Given the description of an element on the screen output the (x, y) to click on. 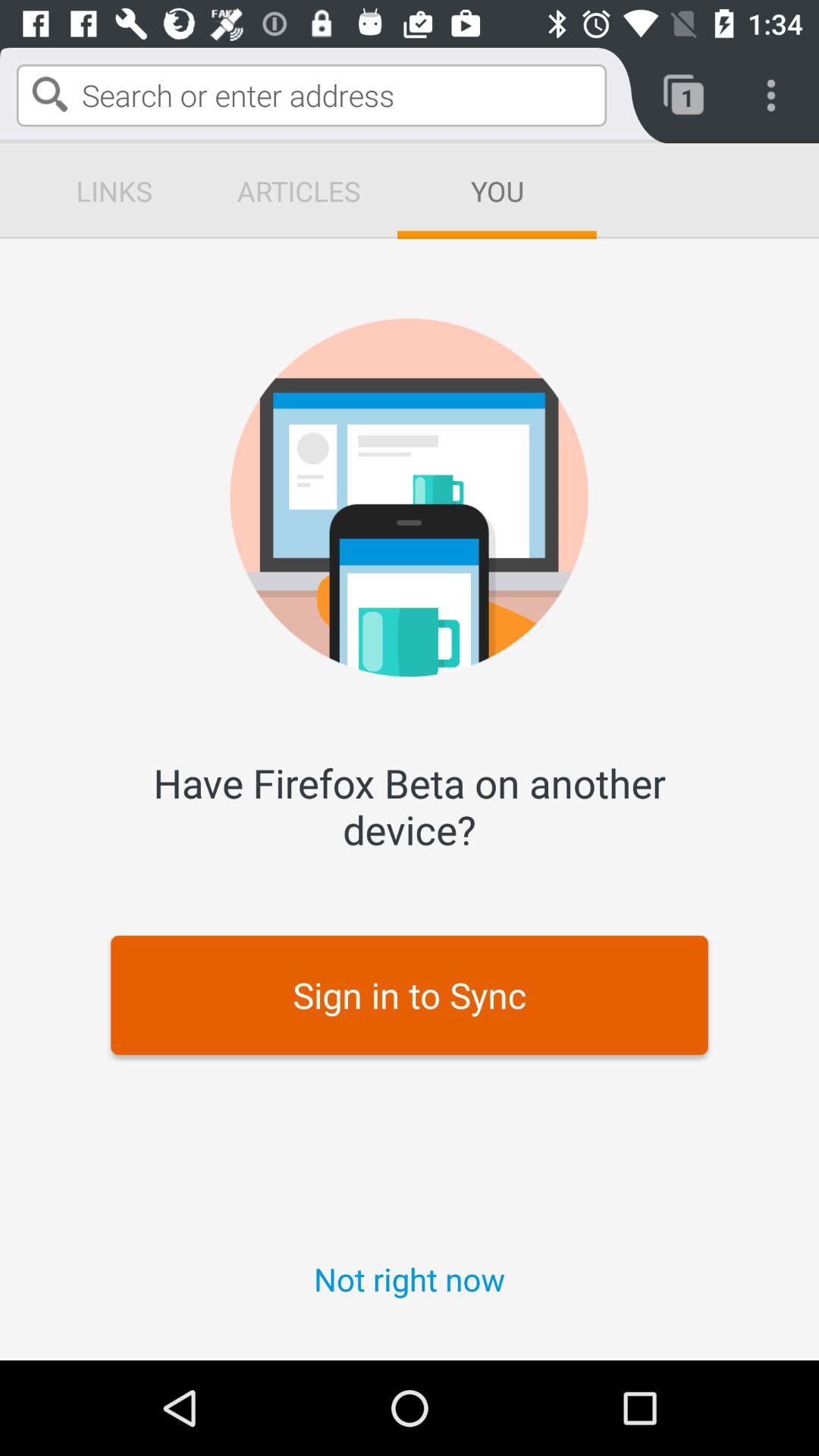
click on magnifier icon (49, 94)
click on the sign in to sync (99, 190)
click on the articles at the top of the page (298, 190)
click on the image in middle of the page (409, 497)
